Given the description of an element on the screen output the (x, y) to click on. 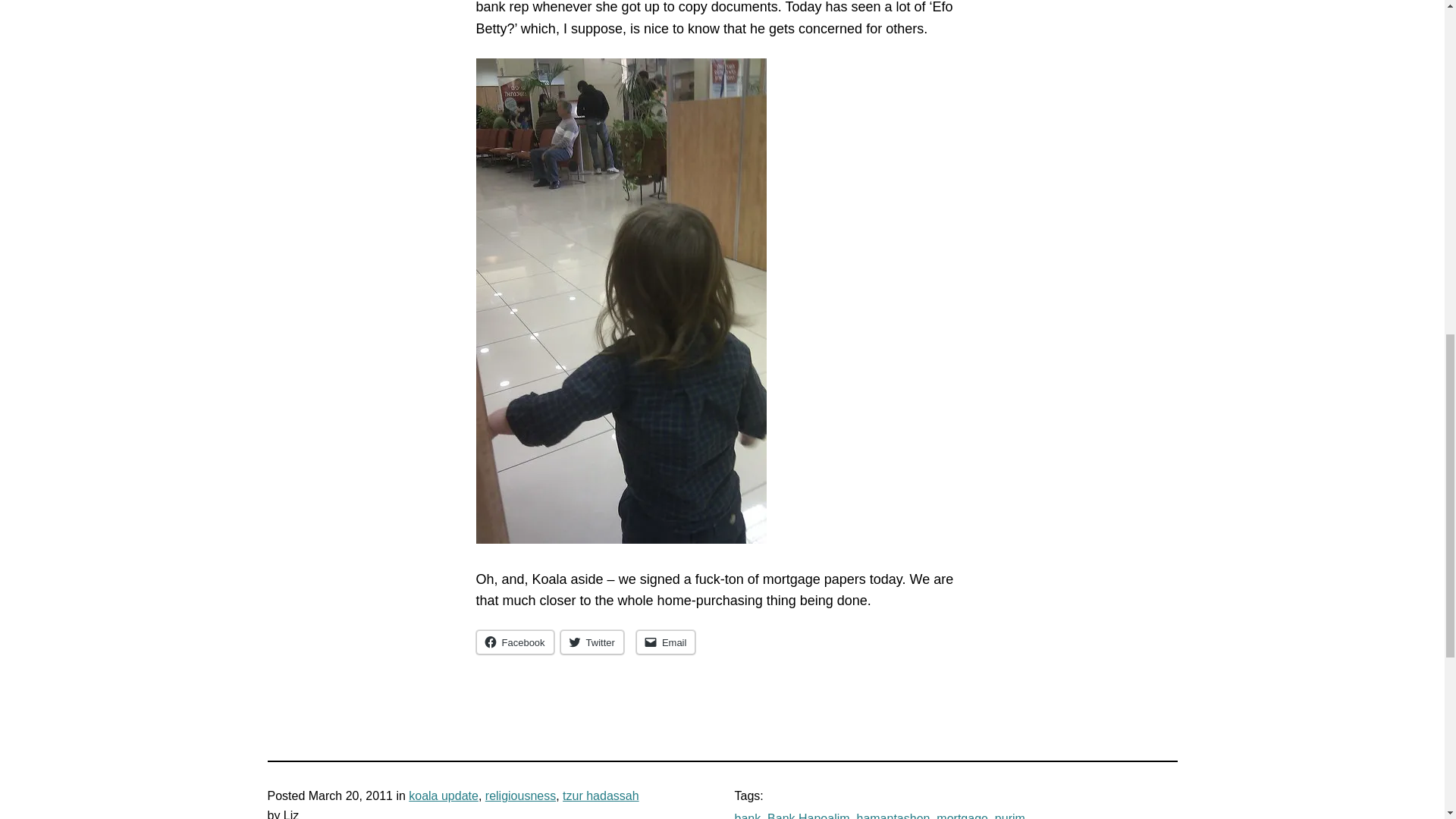
Click to share on Facebook (515, 641)
bank (746, 815)
Twitter (592, 641)
Email (665, 641)
Click to share on Twitter (592, 641)
mortgage (962, 815)
religiousness (520, 795)
tzur hadassah (600, 795)
purim (1009, 815)
Facebook (515, 641)
Click to email a link to a friend (665, 641)
Bank Hapoalim (808, 815)
koala update (444, 795)
hamantashen (893, 815)
